Given the description of an element on the screen output the (x, y) to click on. 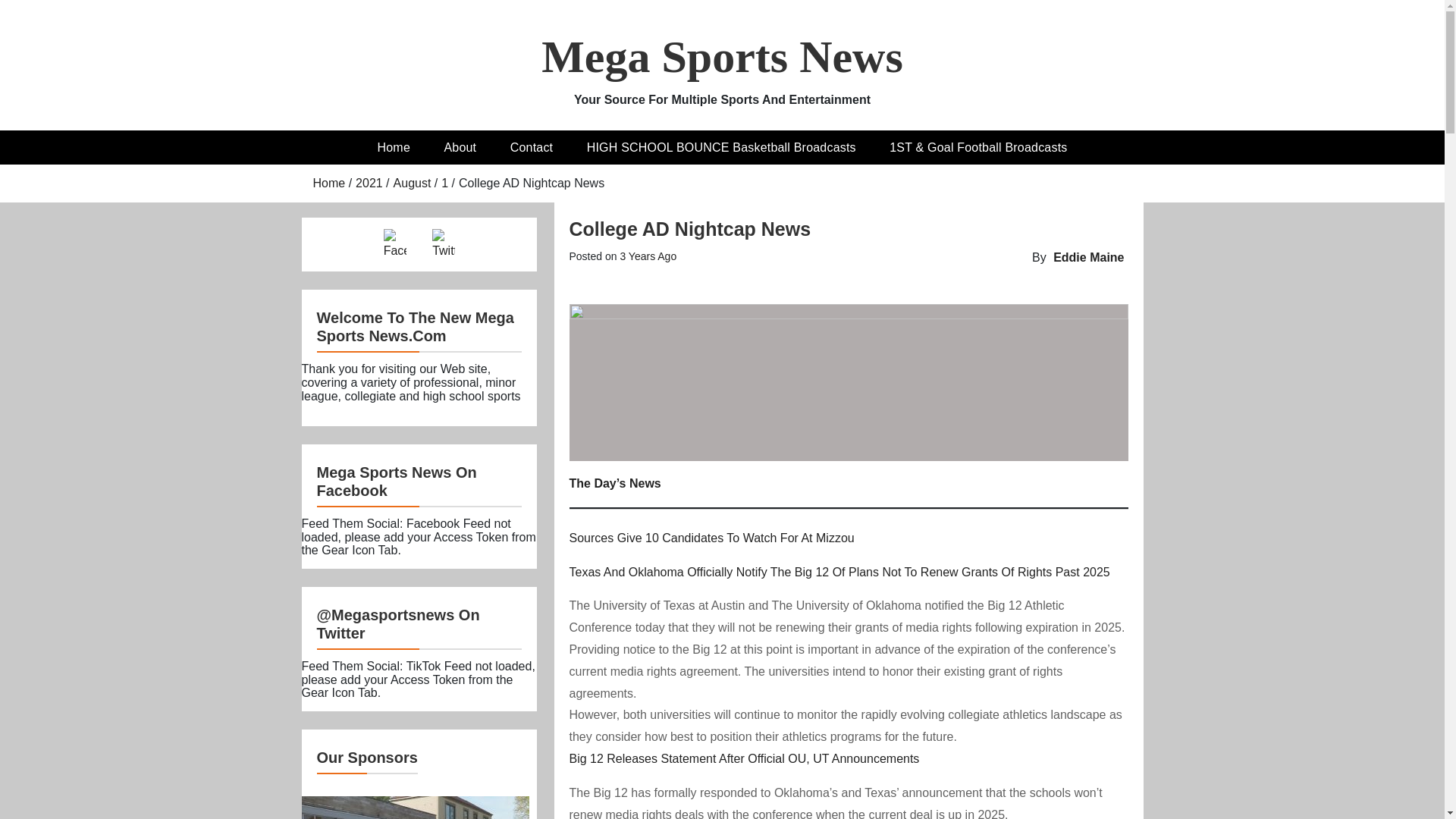
Home (329, 182)
Eddie Maine (1088, 256)
August (411, 182)
About (460, 147)
Mega Sports News (721, 56)
HIGH SCHOOL BOUNCE Basketball Broadcasts (721, 147)
3 Years Ago (648, 256)
Contact (532, 147)
2021 (368, 182)
